Given the description of an element on the screen output the (x, y) to click on. 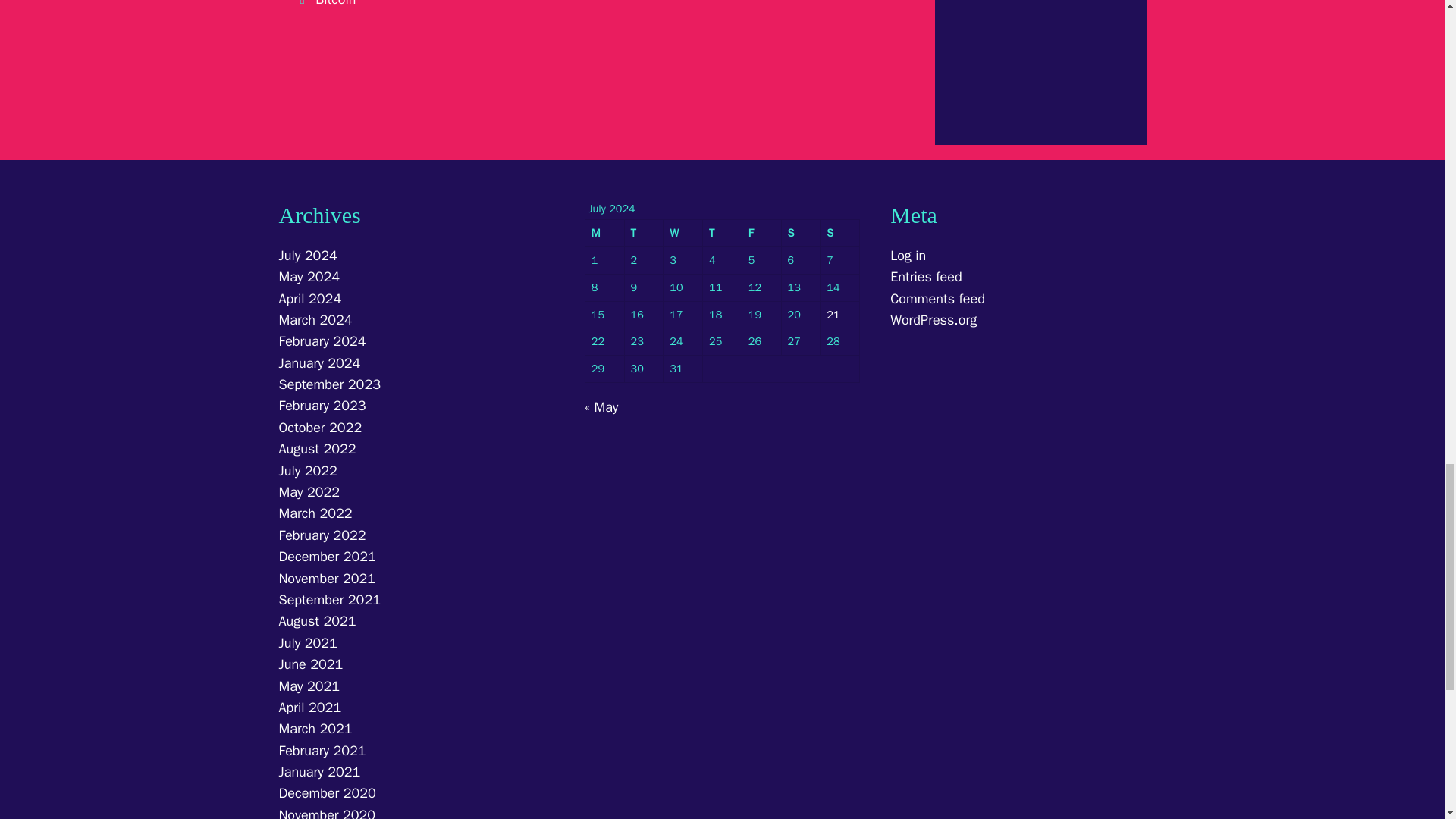
Thursday (722, 233)
Bitcoin (335, 3)
Wednesday (683, 233)
Friday (761, 233)
Saturday (801, 233)
Sunday (840, 233)
Monday (604, 233)
Tuesday (643, 233)
